Given the description of an element on the screen output the (x, y) to click on. 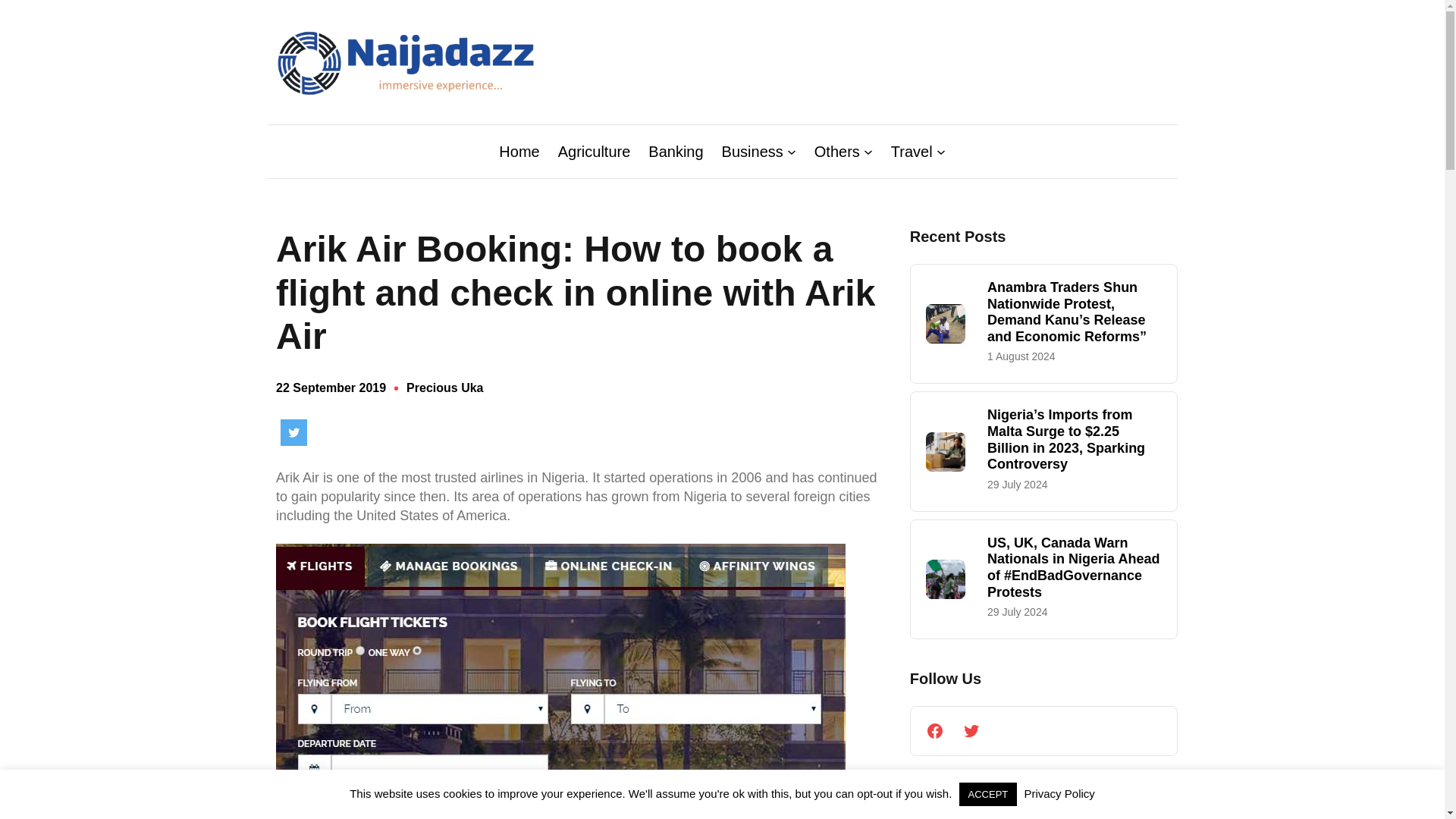
Business (752, 151)
Agriculture (593, 151)
Banking (675, 151)
Home (518, 151)
Twitter (294, 432)
Travel (912, 151)
Others (836, 151)
Precious Uka (444, 387)
